Given the description of an element on the screen output the (x, y) to click on. 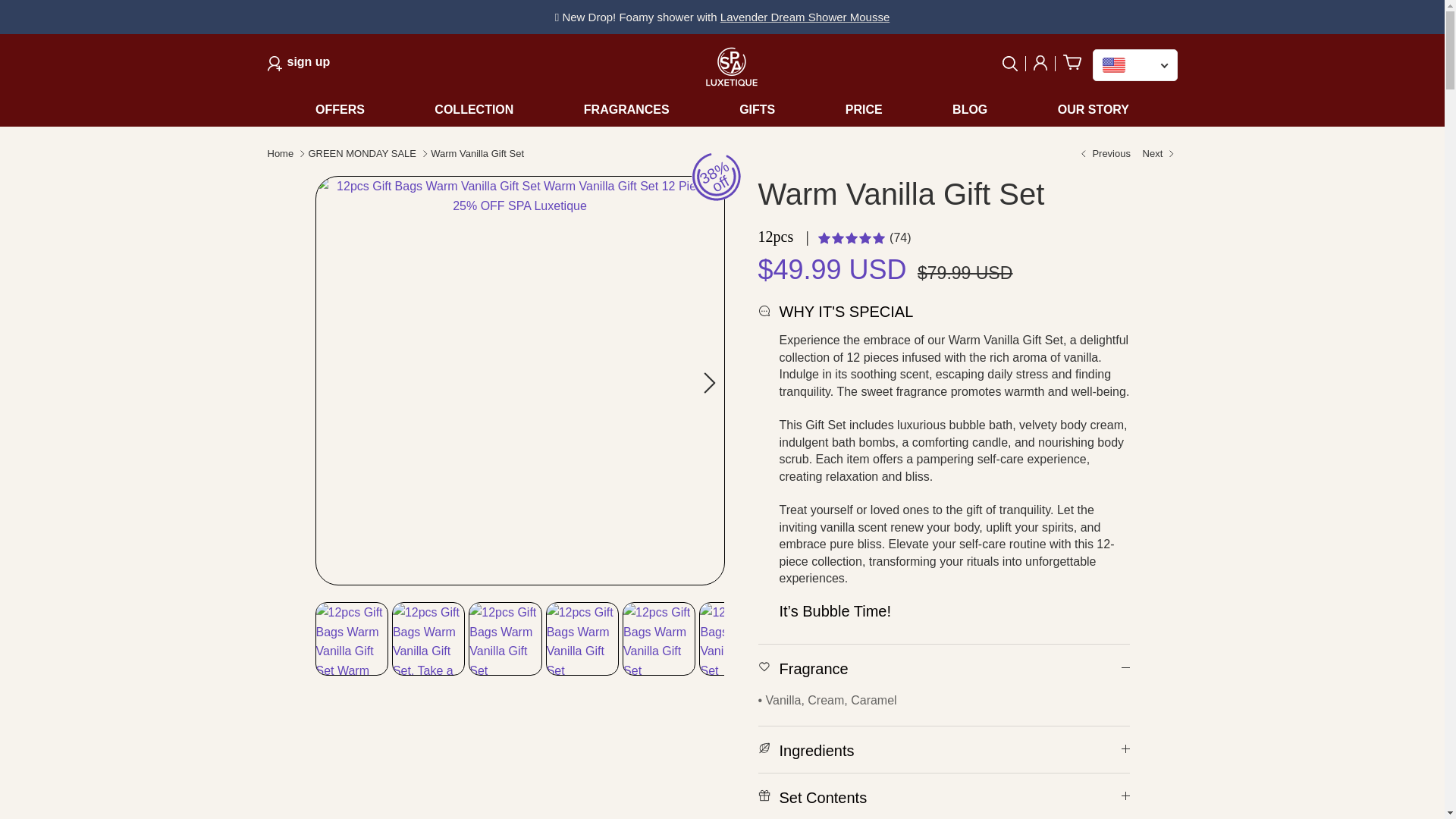
Lavender Dream Shower Mousse (298, 63)
Cart (804, 16)
Search (1068, 63)
Account (1014, 63)
Lavender Dream Shower Mousse (1040, 63)
FRAGRANCES (804, 16)
Lavender Dream Gift Set (626, 109)
OFFERS (1104, 154)
GIFTS (356, 109)
SPA Luxetique (757, 109)
Rose Water Gift Set (731, 66)
Right (1159, 154)
COLLECTION (709, 382)
